Given the description of an element on the screen output the (x, y) to click on. 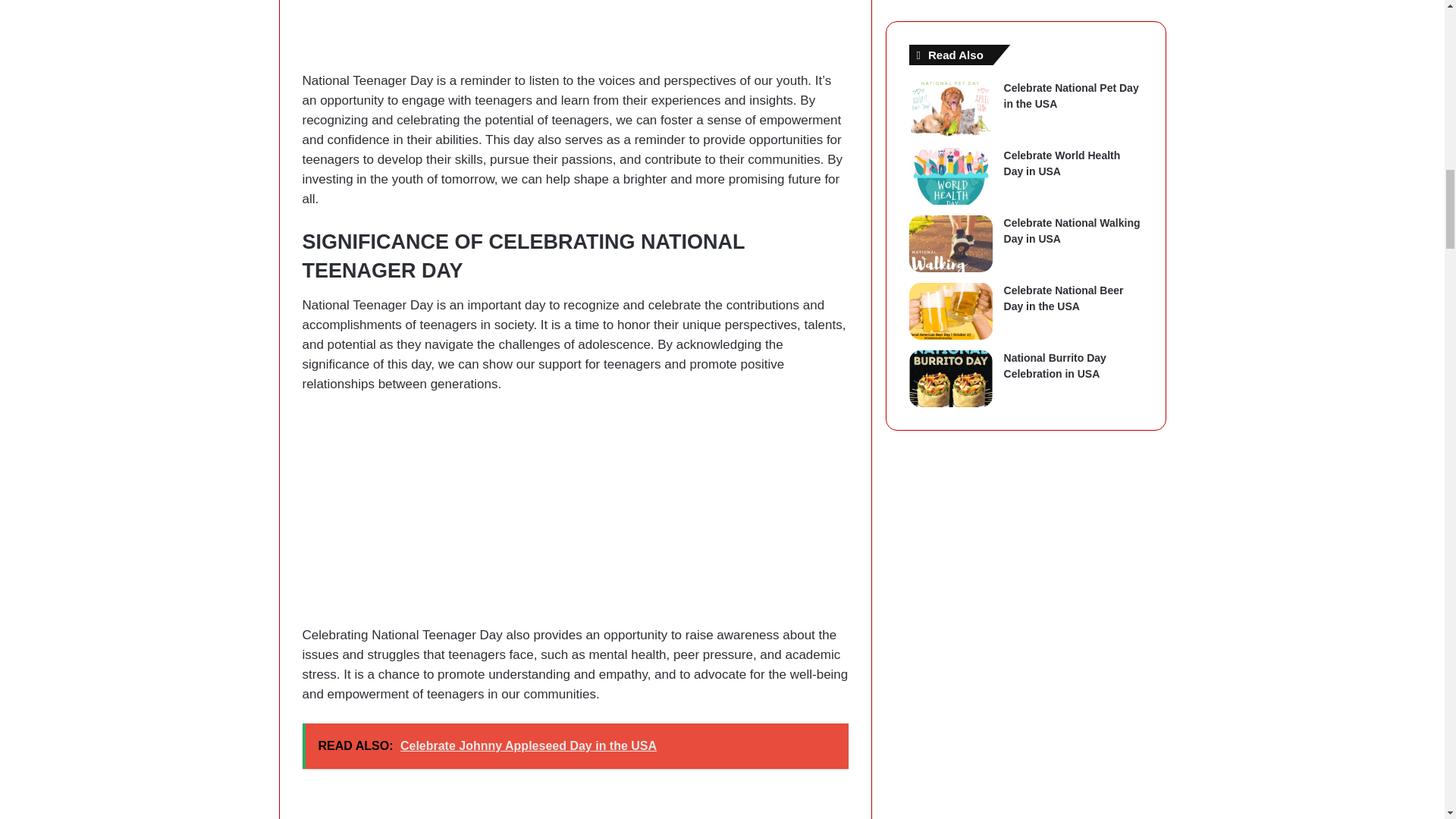
READ ALSO:  Celebrate Johnny Appleseed Day in the USA (574, 746)
